Given the description of an element on the screen output the (x, y) to click on. 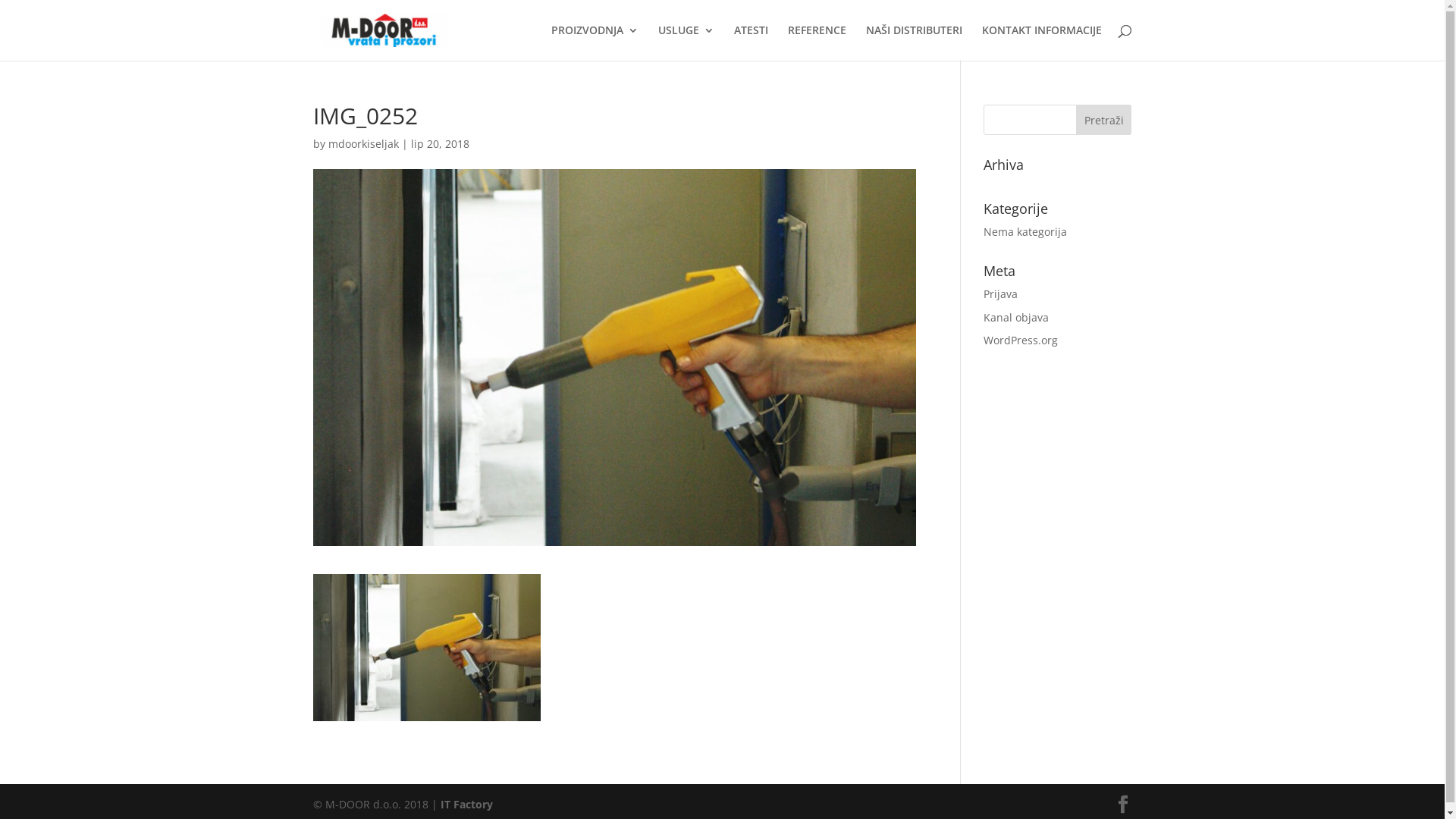
ATESTI Element type: text (751, 42)
PROIZVODNJA Element type: text (593, 42)
REFERENCE Element type: text (816, 42)
KONTAKT INFORMACIJE Element type: text (1041, 42)
Prijava Element type: text (1000, 293)
USLUGE Element type: text (686, 42)
mdoorkiseljak Element type: text (362, 143)
IT Factory Element type: text (465, 804)
WordPress.org Element type: text (1020, 339)
Kanal objava Element type: text (1015, 317)
